Given the description of an element on the screen output the (x, y) to click on. 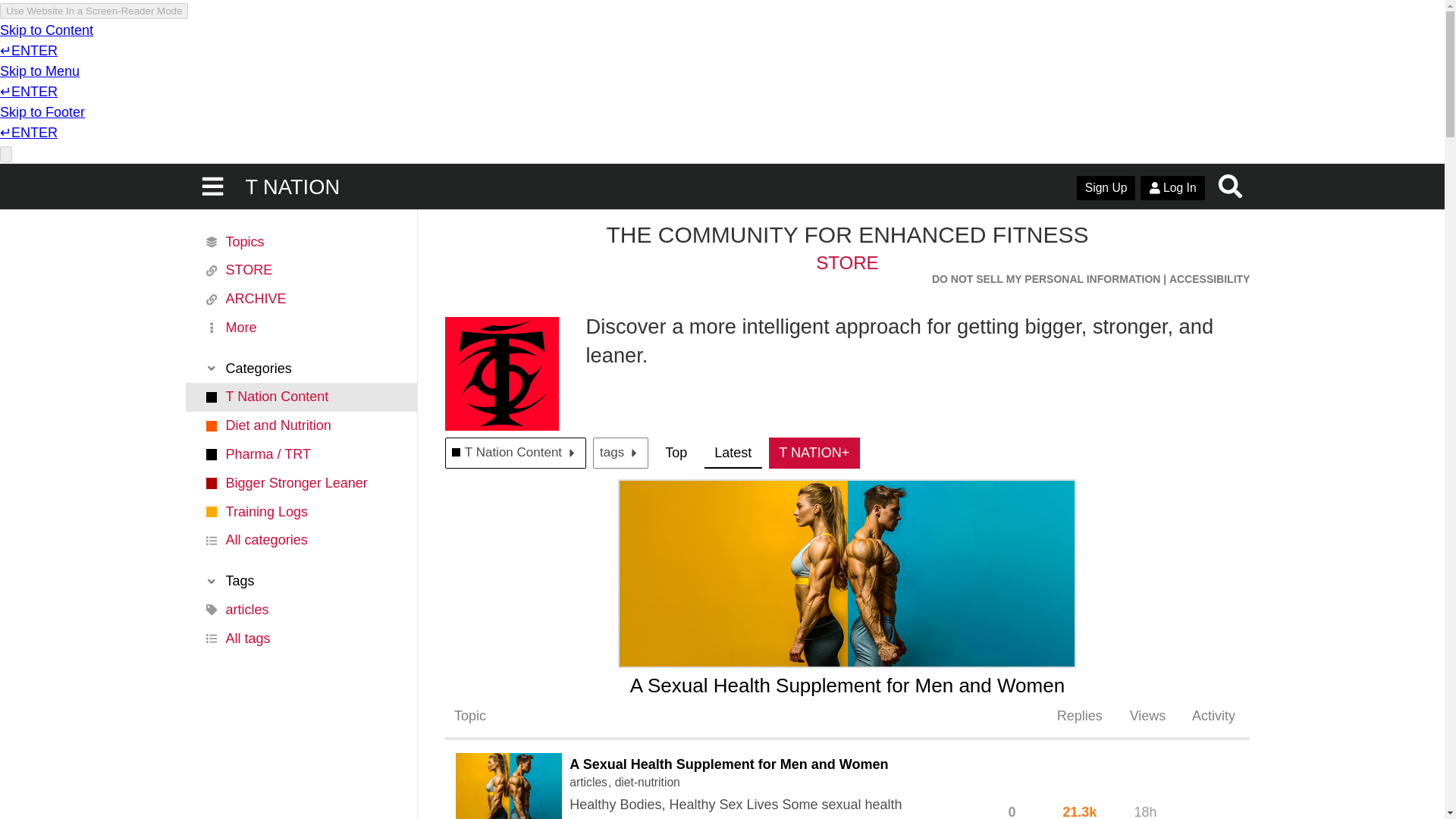
Topics (300, 241)
Sidebar (213, 186)
More (300, 328)
articles (591, 782)
18h (1144, 806)
Diet and Nutrition (300, 425)
articles (300, 609)
A Sexual Health Supplement for Men and Women (728, 763)
Search (1230, 186)
ARCHIVE (300, 299)
ACCESSIBILITY (1209, 278)
DO NOT SELL MY PERSONAL INFORMATION (1045, 278)
Categories (300, 368)
Sign Up (1106, 187)
